Given the description of an element on the screen output the (x, y) to click on. 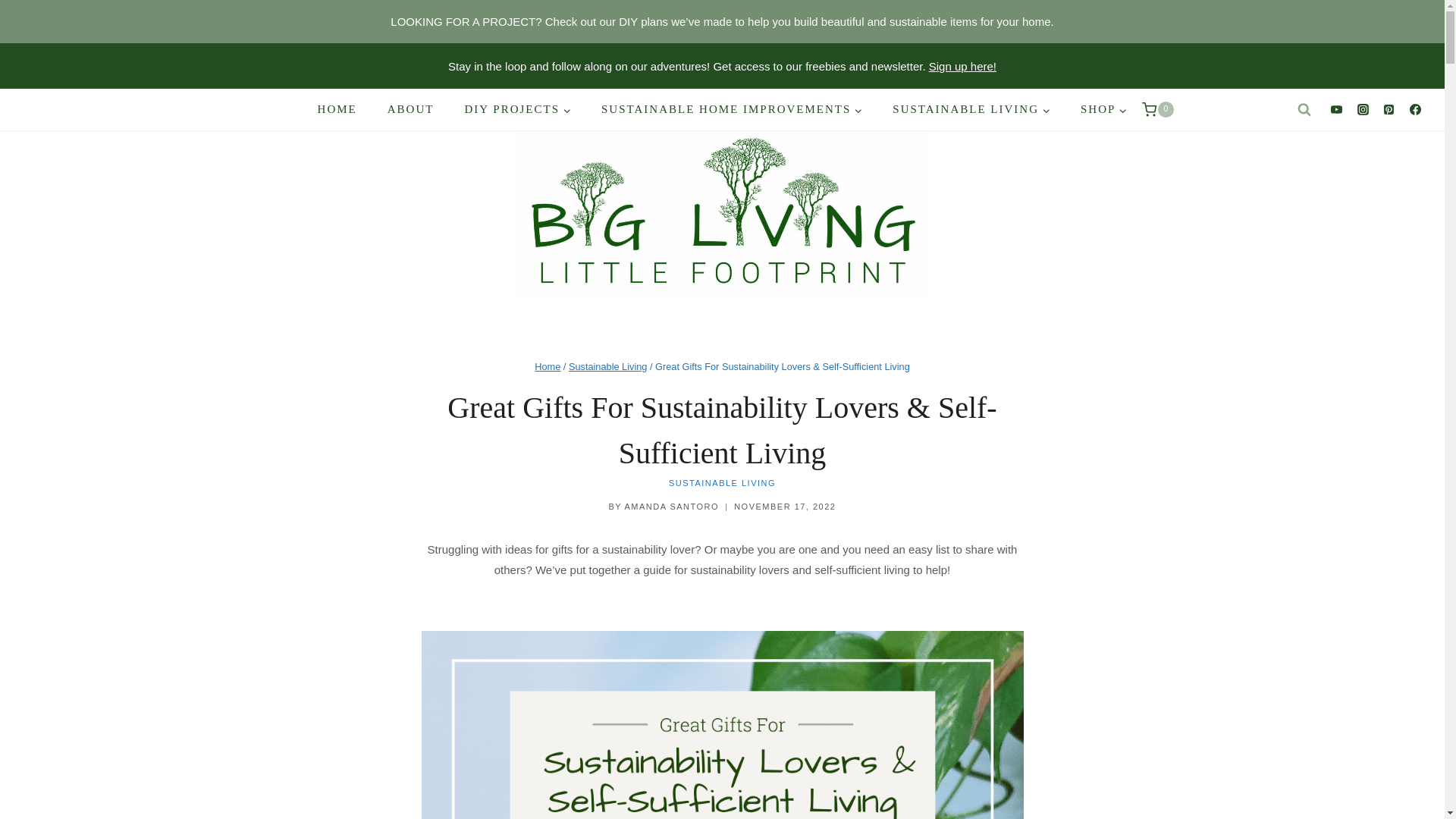
0 (1157, 109)
DIY PROJECTS (517, 109)
Home (547, 366)
ABOUT (410, 109)
SUSTAINABLE HOME IMPROVEMENTS (731, 109)
Sustainable Living (608, 366)
SHOP (1103, 109)
HOME (337, 109)
Sign up here! (961, 65)
SUSTAINABLE LIVING (971, 109)
